Given the description of an element on the screen output the (x, y) to click on. 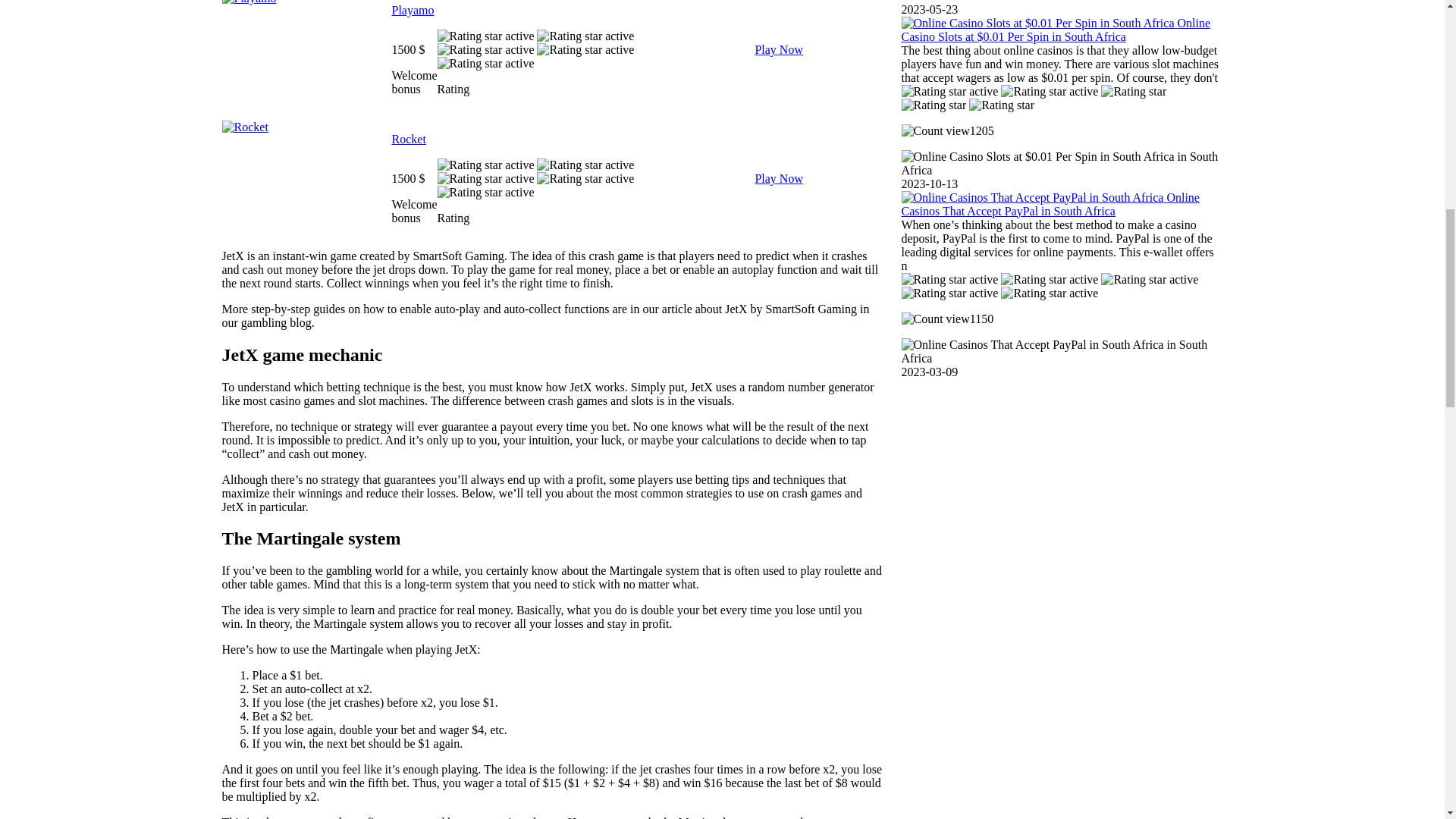
Playamo (412, 10)
Play Now (778, 49)
Rocket (408, 138)
Play Now (778, 178)
